Given the description of an element on the screen output the (x, y) to click on. 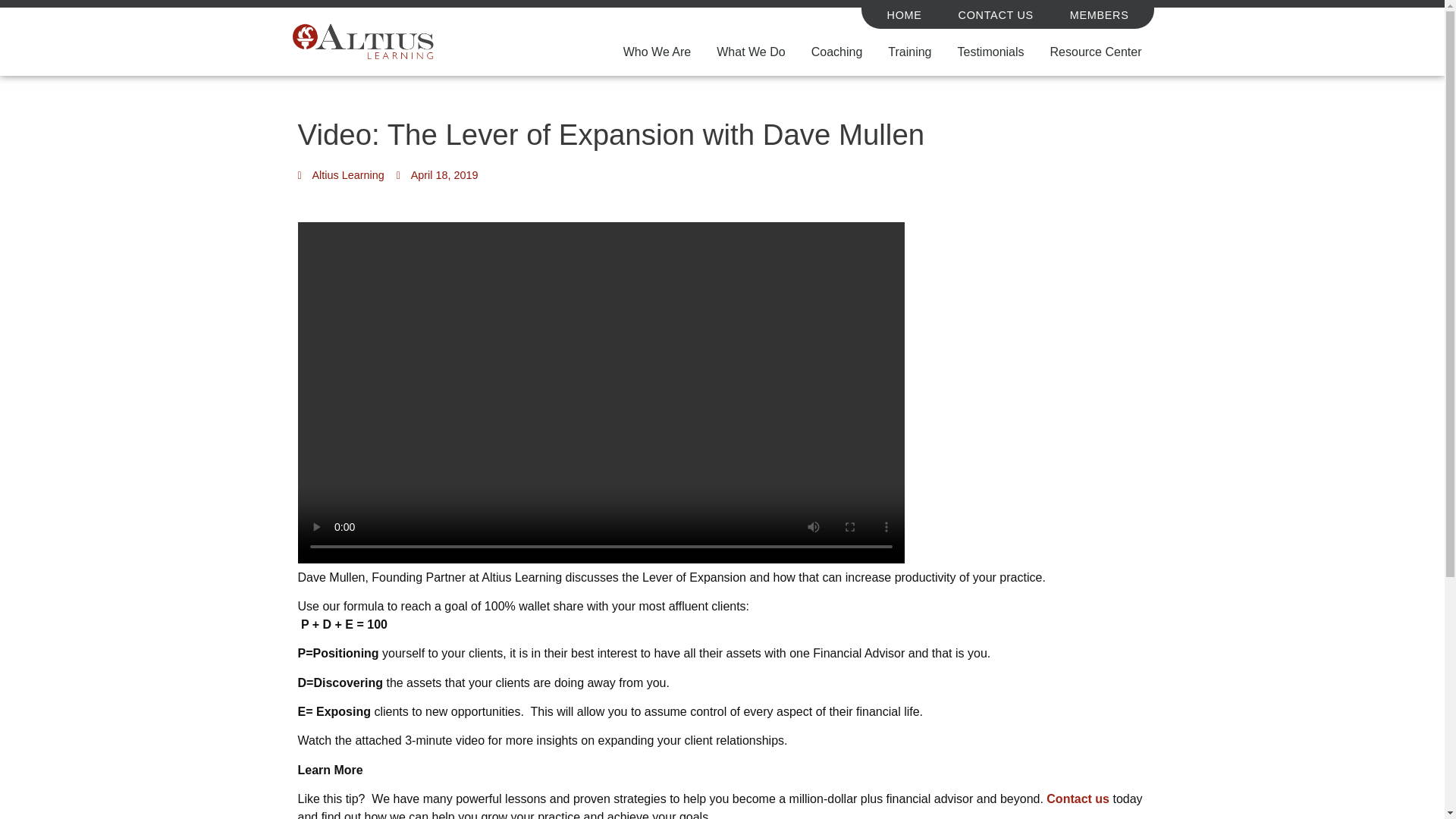
April 18, 2019 (437, 175)
Training (909, 52)
MEMBERS (1099, 15)
CONTACT US (995, 15)
HOME (904, 15)
What We Do (750, 52)
Who We Are (657, 52)
Altius Learning (340, 175)
Contact us (1077, 798)
Resource Center (1095, 52)
Testimonials (990, 52)
Coaching (836, 52)
